Given the description of an element on the screen output the (x, y) to click on. 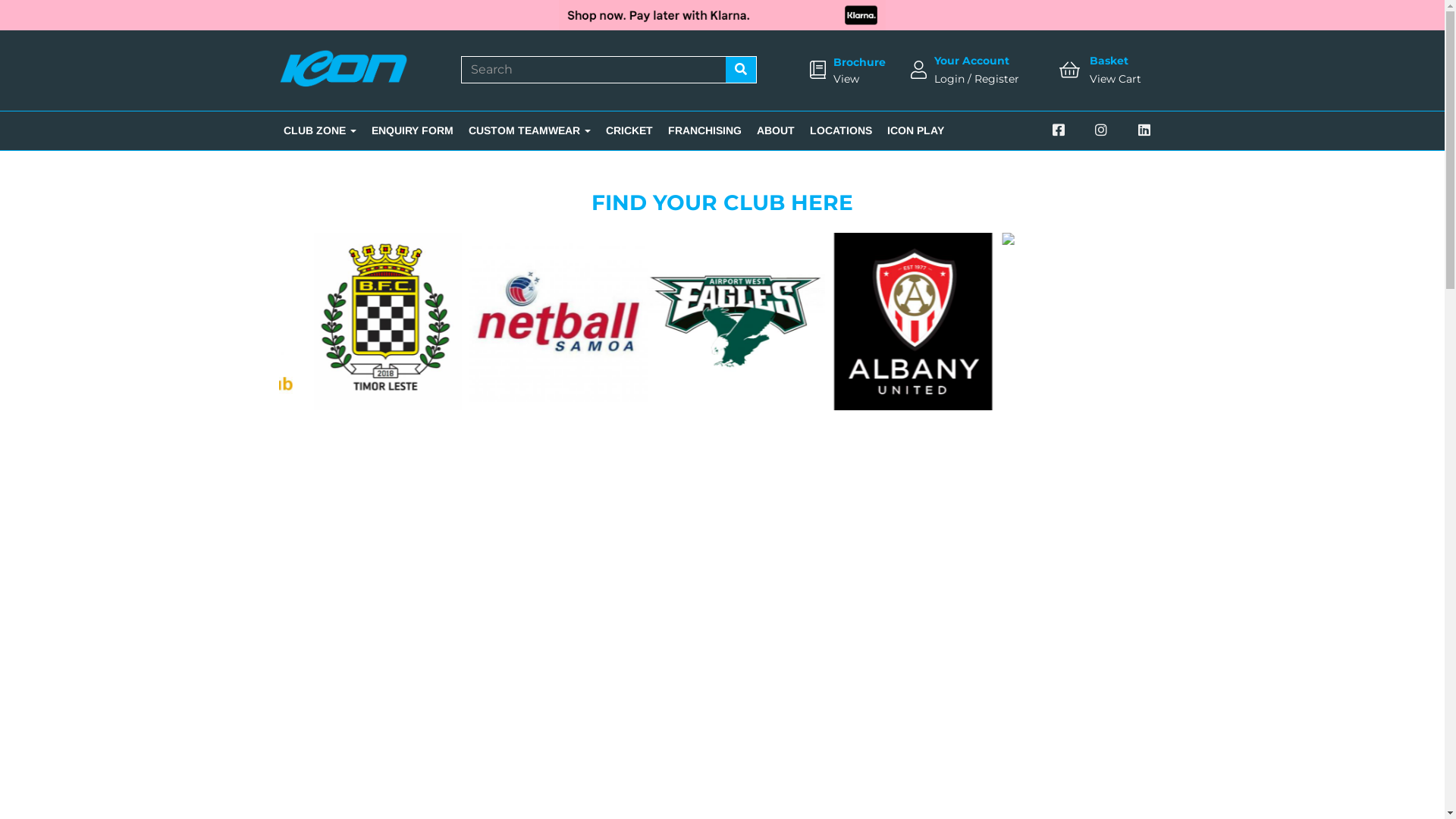
Brochure Element type: text (859, 62)
ENQUIRY FORM Element type: text (412, 130)
View Element type: text (846, 78)
CUSTOM TEAMWEAR Element type: text (529, 130)
LOCATIONS Element type: text (840, 130)
Your Account
Login / Register Element type: text (976, 69)
Basket
View Cart Element type: text (1115, 69)
CRICKET Element type: text (628, 130)
ICON PLAY Element type: text (915, 130)
ABOUT Element type: text (775, 130)
FRANCHISING Element type: text (703, 130)
CLUB ZONE Element type: text (320, 130)
